Given the description of an element on the screen output the (x, y) to click on. 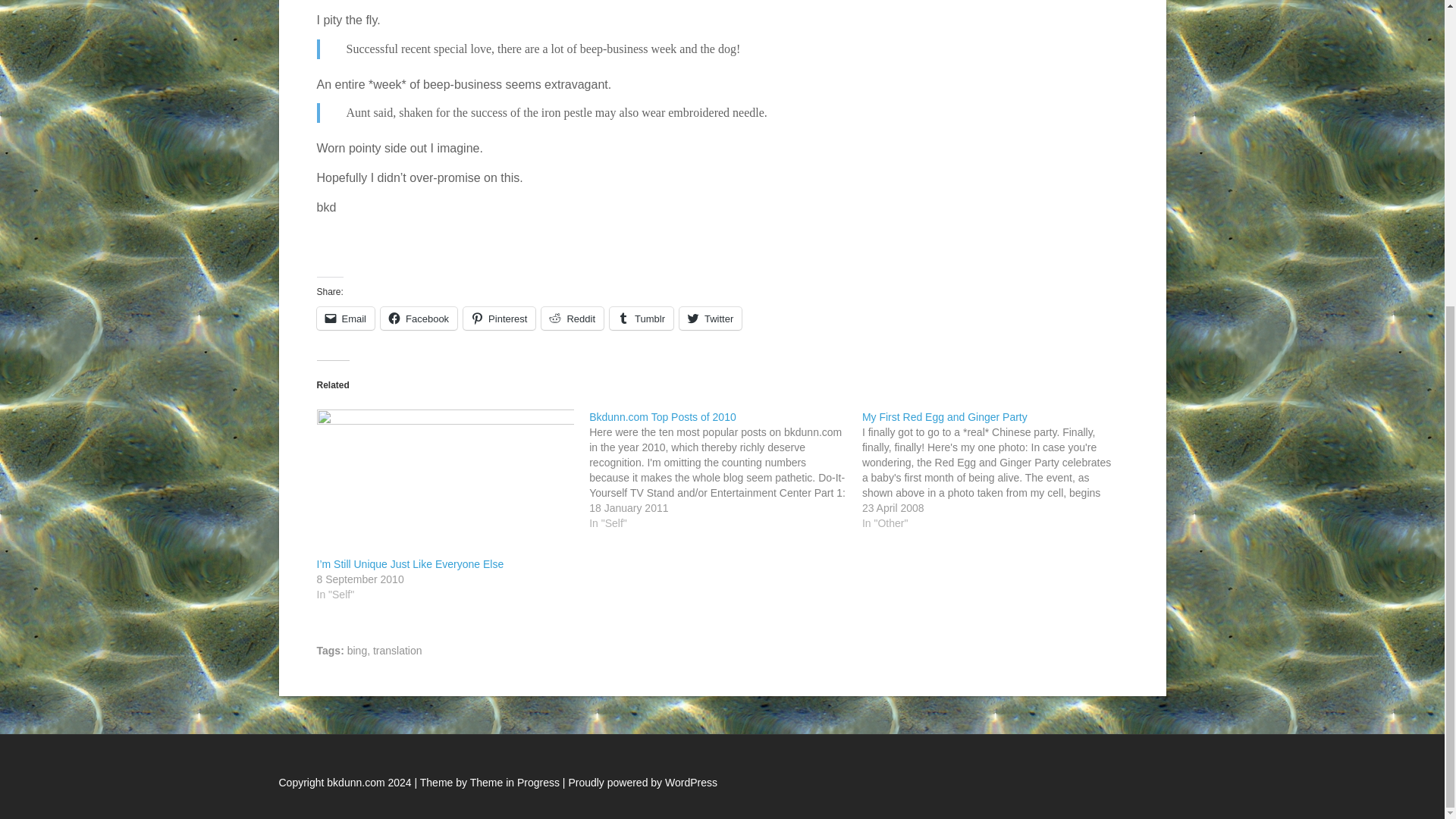
Click to share on Pinterest (499, 318)
Facebook (418, 318)
translation (397, 650)
bing (356, 650)
Click to share on Facebook (418, 318)
My First Red Egg and Ginger Party (944, 417)
Bkdunn.com Top Posts of 2010 (662, 417)
Bkdunn.com Top Posts of 2010 (725, 469)
Click to share on Tumblr (641, 318)
Click to email a link to a friend (346, 318)
